Given the description of an element on the screen output the (x, y) to click on. 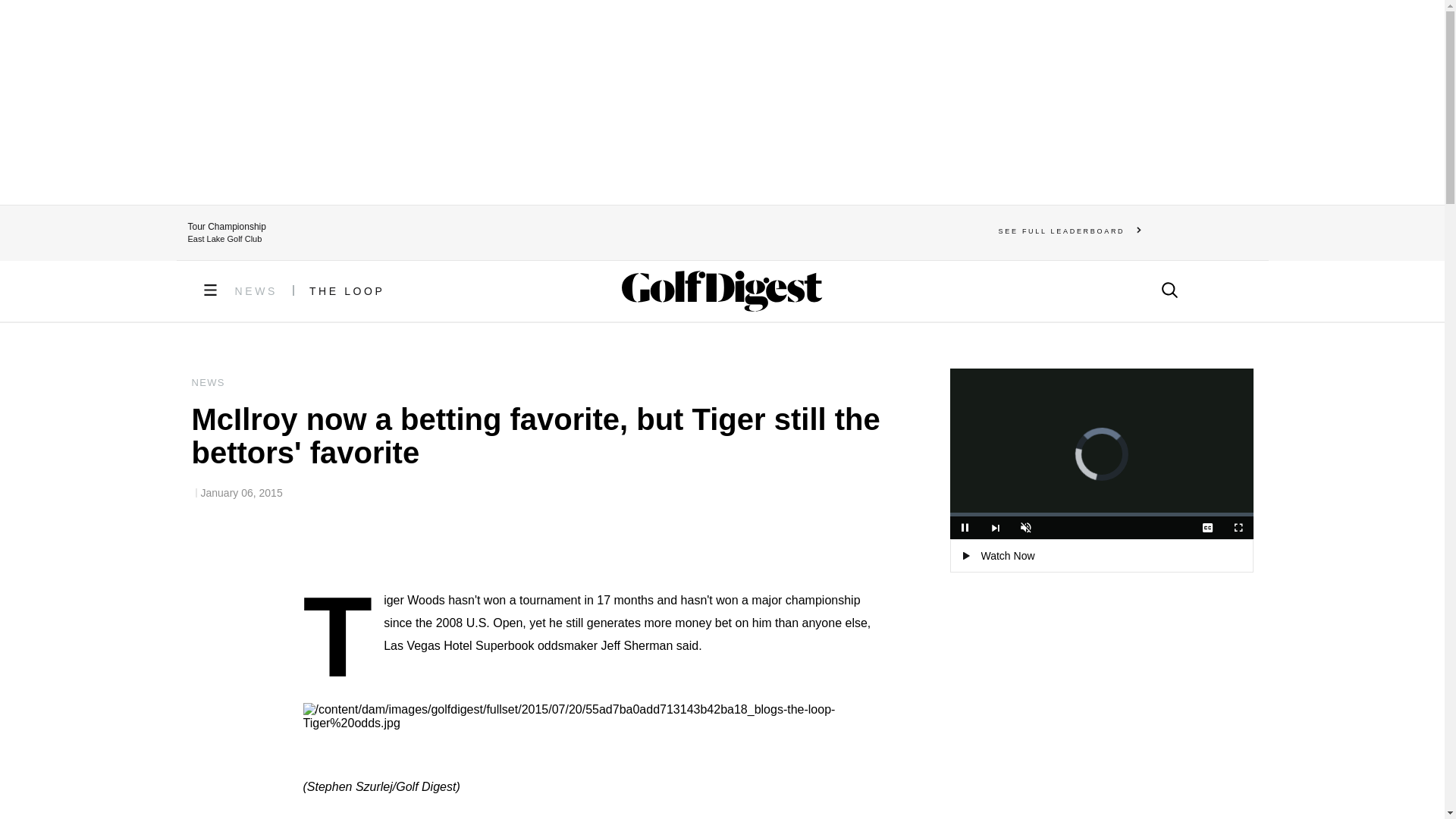
Captions (1207, 527)
Unmute (1025, 527)
SEE FULL LEADERBOARD (1069, 230)
Next playlist item (994, 527)
NEWS (256, 291)
THE LOOP (346, 291)
Pause (964, 527)
